Given the description of an element on the screen output the (x, y) to click on. 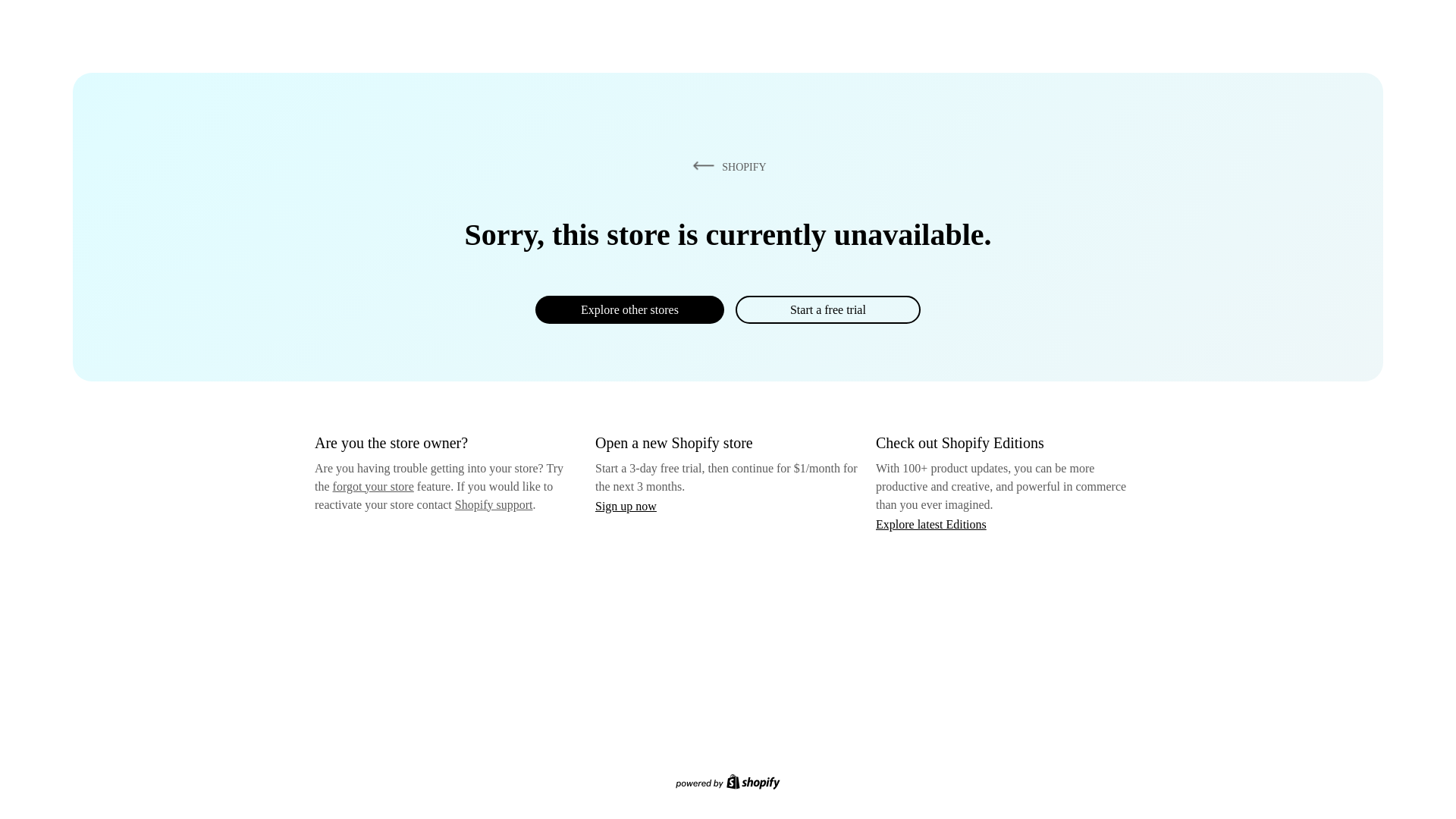
Start a free trial (827, 309)
forgot your store (373, 486)
SHOPIFY (726, 166)
Shopify support (493, 504)
Explore other stores (629, 309)
Sign up now (625, 505)
Explore latest Editions (931, 523)
